Given the description of an element on the screen output the (x, y) to click on. 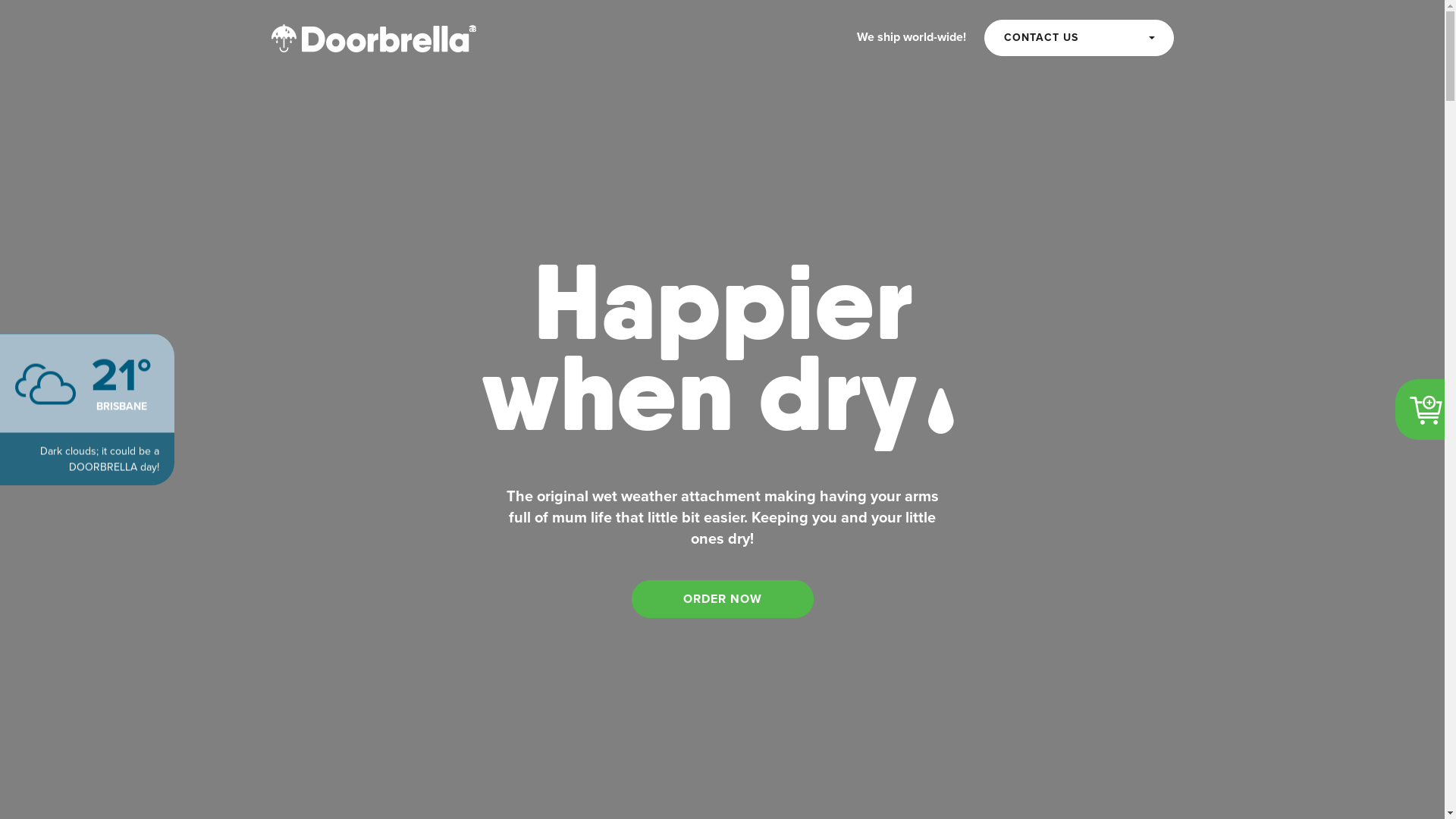
CONTACT US Element type: text (1078, 37)
ORDER NOW Element type: text (721, 599)
